Given the description of an element on the screen output the (x, y) to click on. 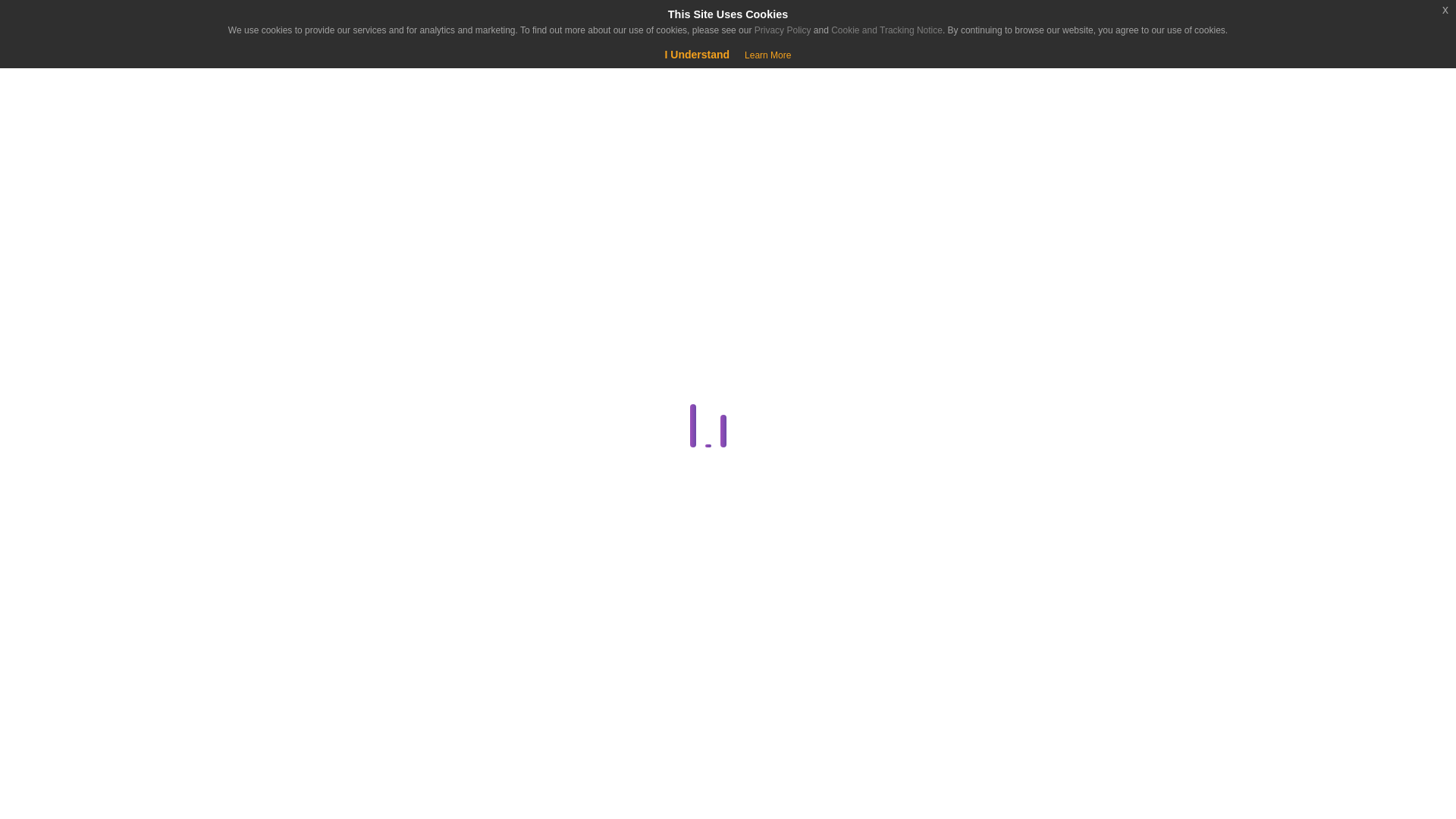
Databases (281, 458)
Hosting Dashboard (281, 713)
Shopping Cart (59, 76)
Domains and DNS (281, 531)
Video Tutorials (281, 816)
Email (281, 604)
Domains API (283, 567)
Affiliates (283, 312)
Linux Administration (281, 750)
cPanel (281, 422)
General (281, 677)
Software (281, 786)
Colocation Guides (283, 385)
FTP (283, 640)
Home (94, 138)
